Given the description of an element on the screen output the (x, y) to click on. 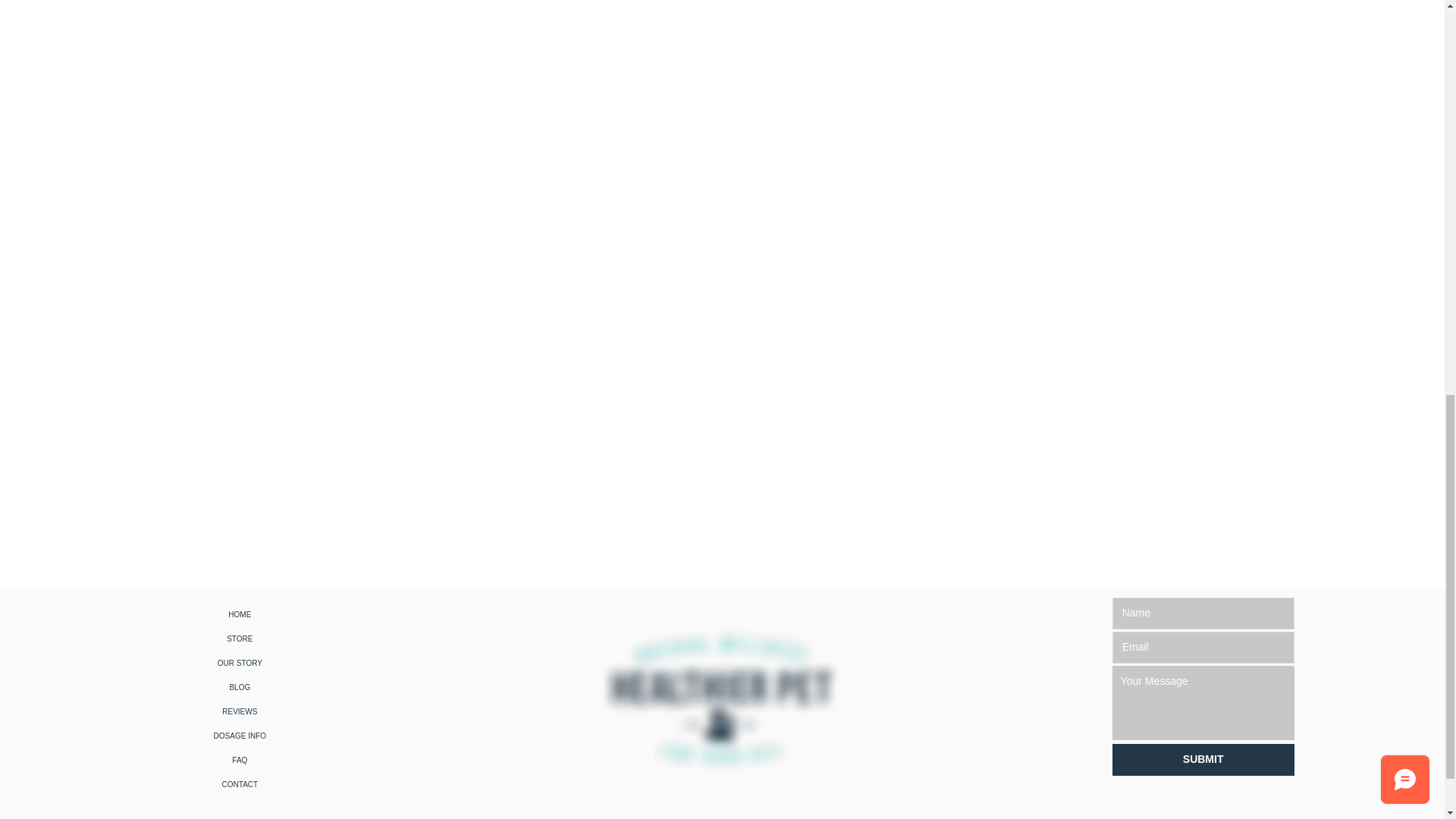
DOSAGE INFO (239, 735)
BLOG (239, 687)
CONTACT (239, 784)
OUR STORY (239, 663)
STORE (239, 639)
FAQ (239, 760)
HOME (239, 614)
REVIEWS (239, 711)
SUBMIT (1203, 759)
